Given the description of an element on the screen output the (x, y) to click on. 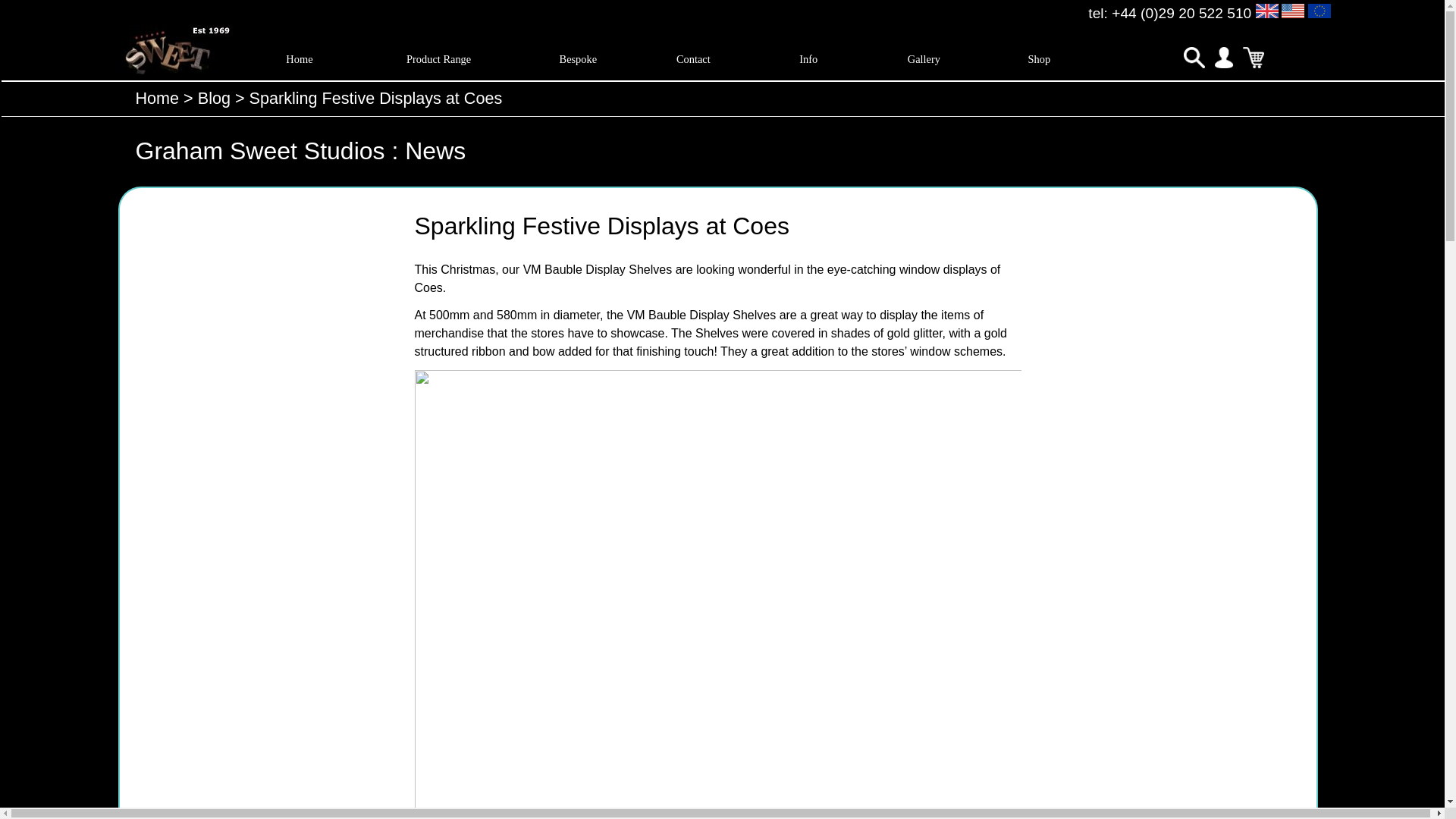
Contact (693, 59)
Bespoke (576, 59)
Info (808, 59)
Home (298, 59)
Product Range (437, 59)
